Given the description of an element on the screen output the (x, y) to click on. 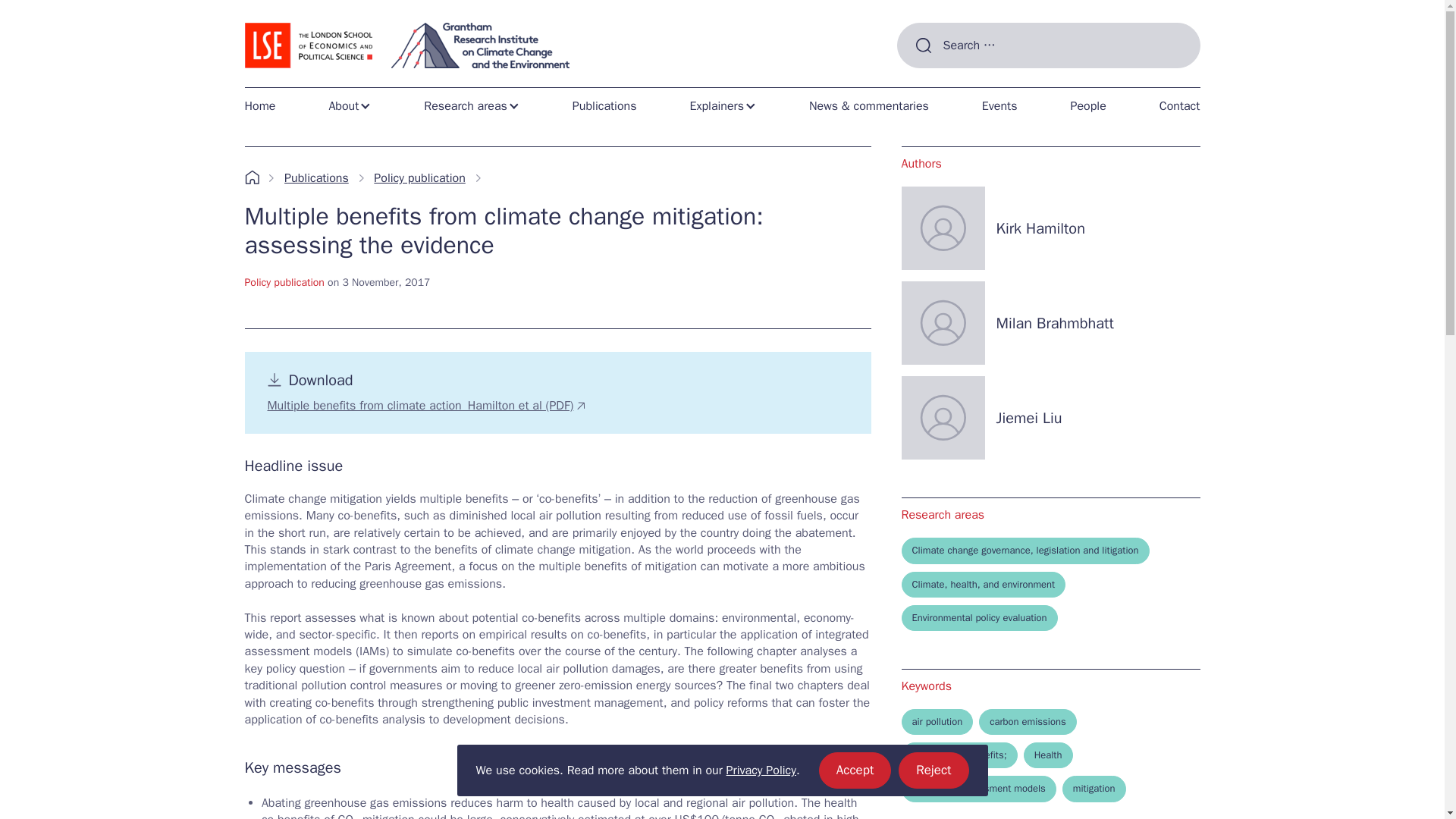
Search (922, 80)
Home (265, 105)
Privacy Policy (761, 770)
Explainers (722, 105)
Explainers (722, 105)
Publications (604, 105)
Search (922, 80)
Search (854, 770)
Research areas (922, 80)
Home (471, 105)
About (933, 770)
Research areas (265, 105)
